Given the description of an element on the screen output the (x, y) to click on. 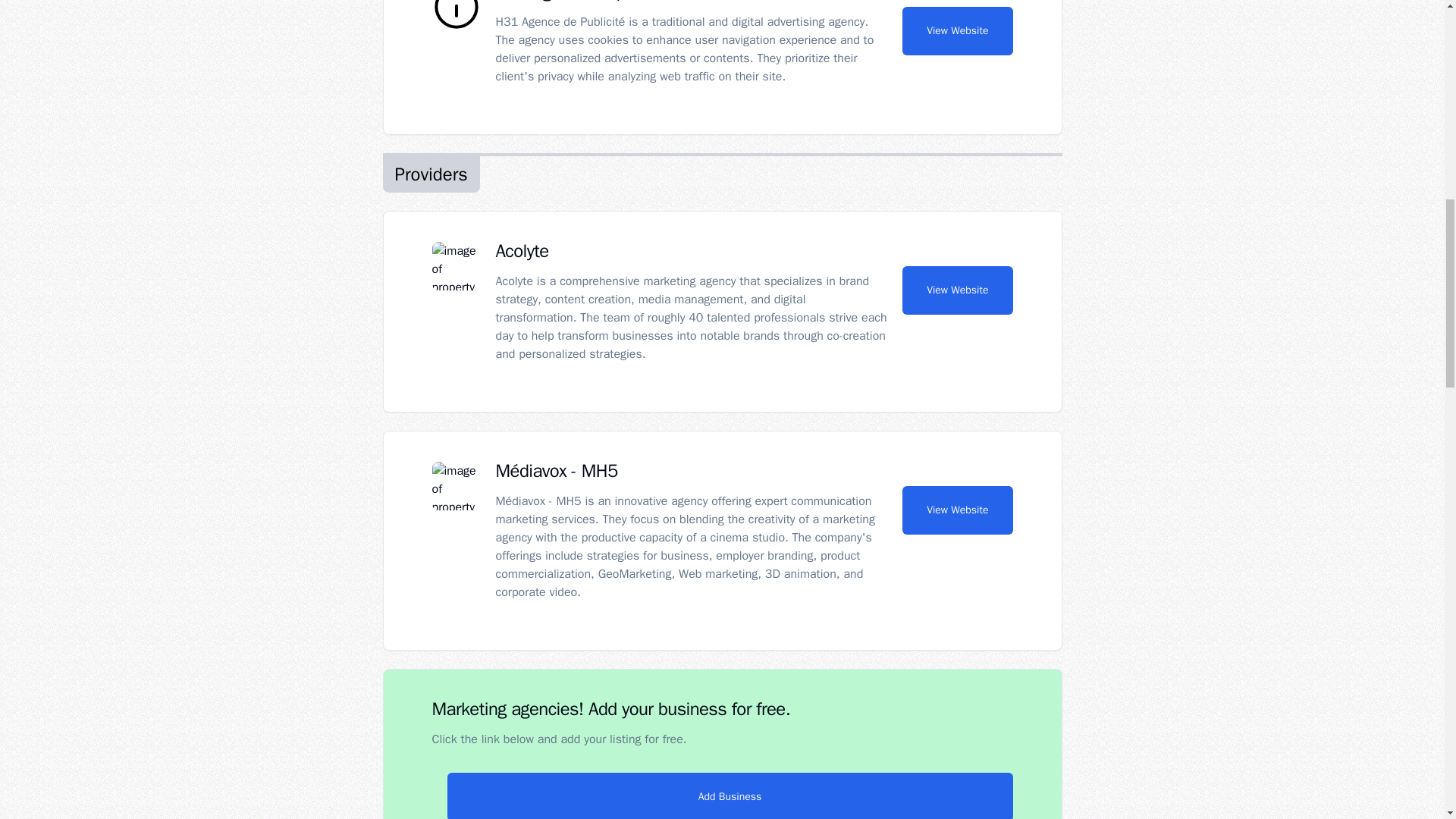
View Website (956, 510)
View Website (956, 30)
View Website (956, 290)
Add Business (729, 796)
